Given the description of an element on the screen output the (x, y) to click on. 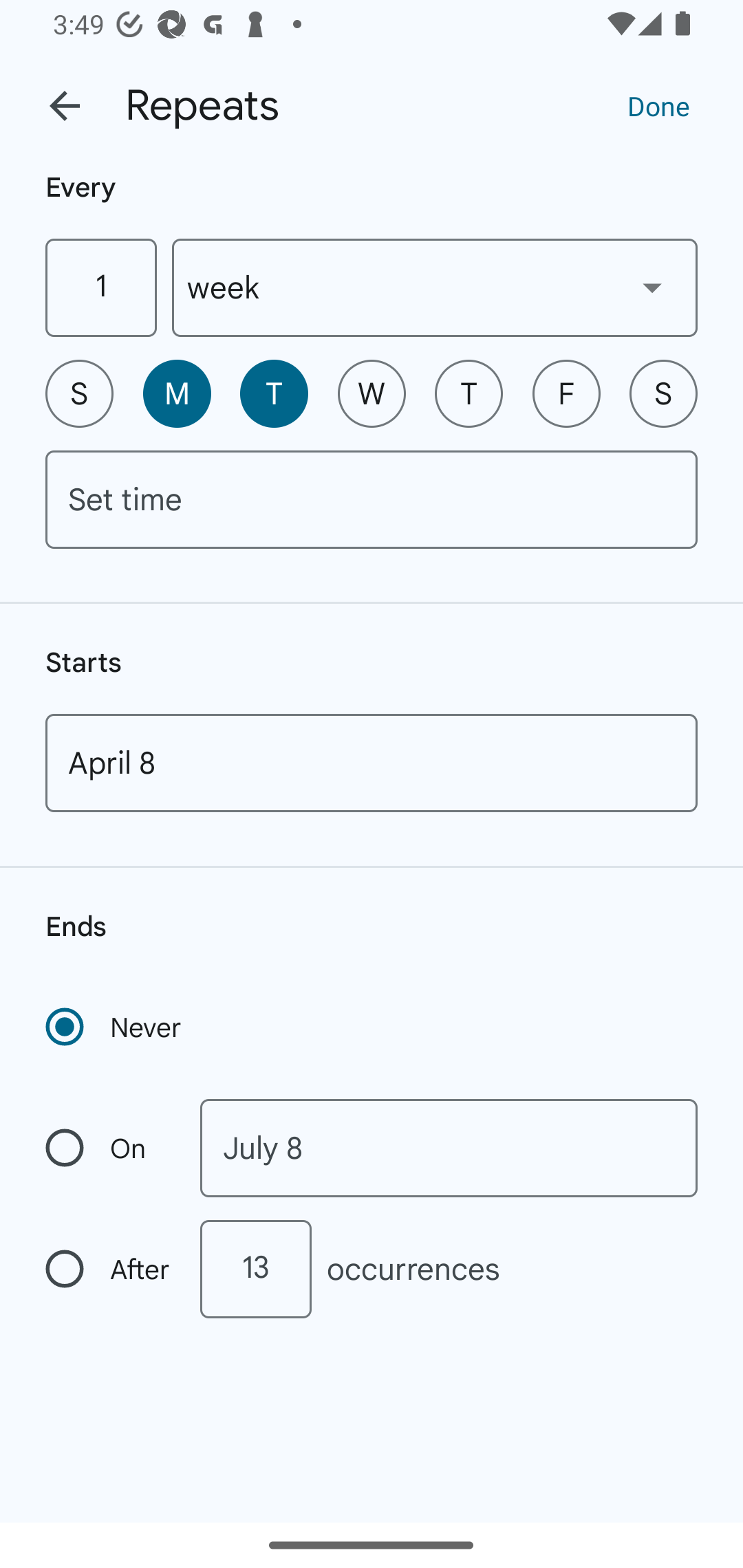
Back (64, 105)
Done (658, 105)
1 (100, 287)
week (434, 287)
Show dropdown menu (652, 286)
S Sunday (79, 393)
M Monday, selected (177, 393)
T Tuesday, selected (273, 393)
W Wednesday (371, 393)
T Thursday (468, 393)
F Friday (566, 393)
S Saturday (663, 393)
Set time (371, 499)
April 8 (371, 762)
Never Recurrence never ends (115, 1026)
July 8 (448, 1148)
On Recurrence ends on a specific date (109, 1148)
13 (255, 1268)
